Given the description of an element on the screen output the (x, y) to click on. 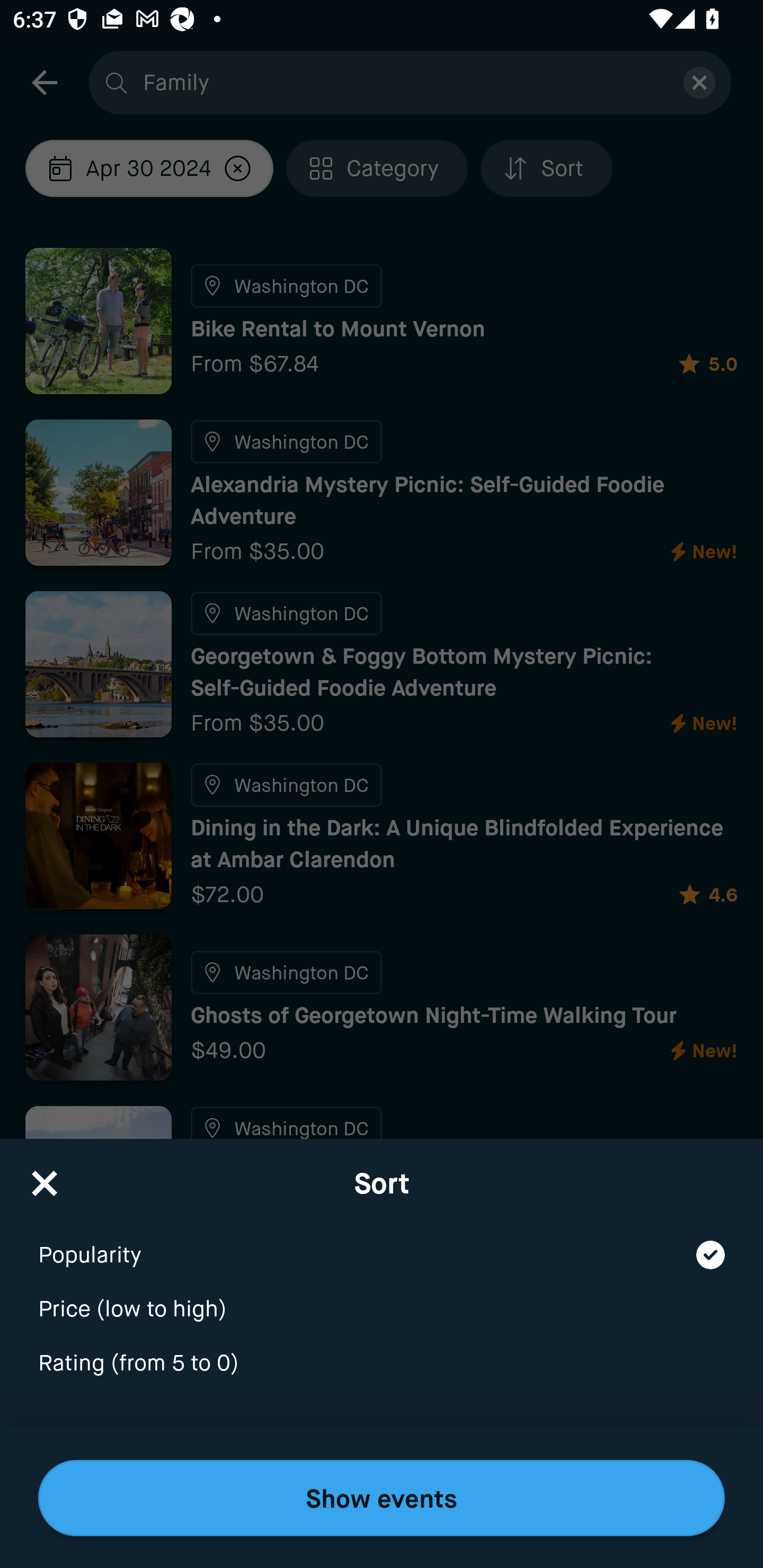
CloseButton (44, 1177)
Popularity Selected Icon (381, 1243)
Price (low to high) (381, 1297)
Rating (from 5 to 0) (381, 1362)
Show events (381, 1497)
